Given the description of an element on the screen output the (x, y) to click on. 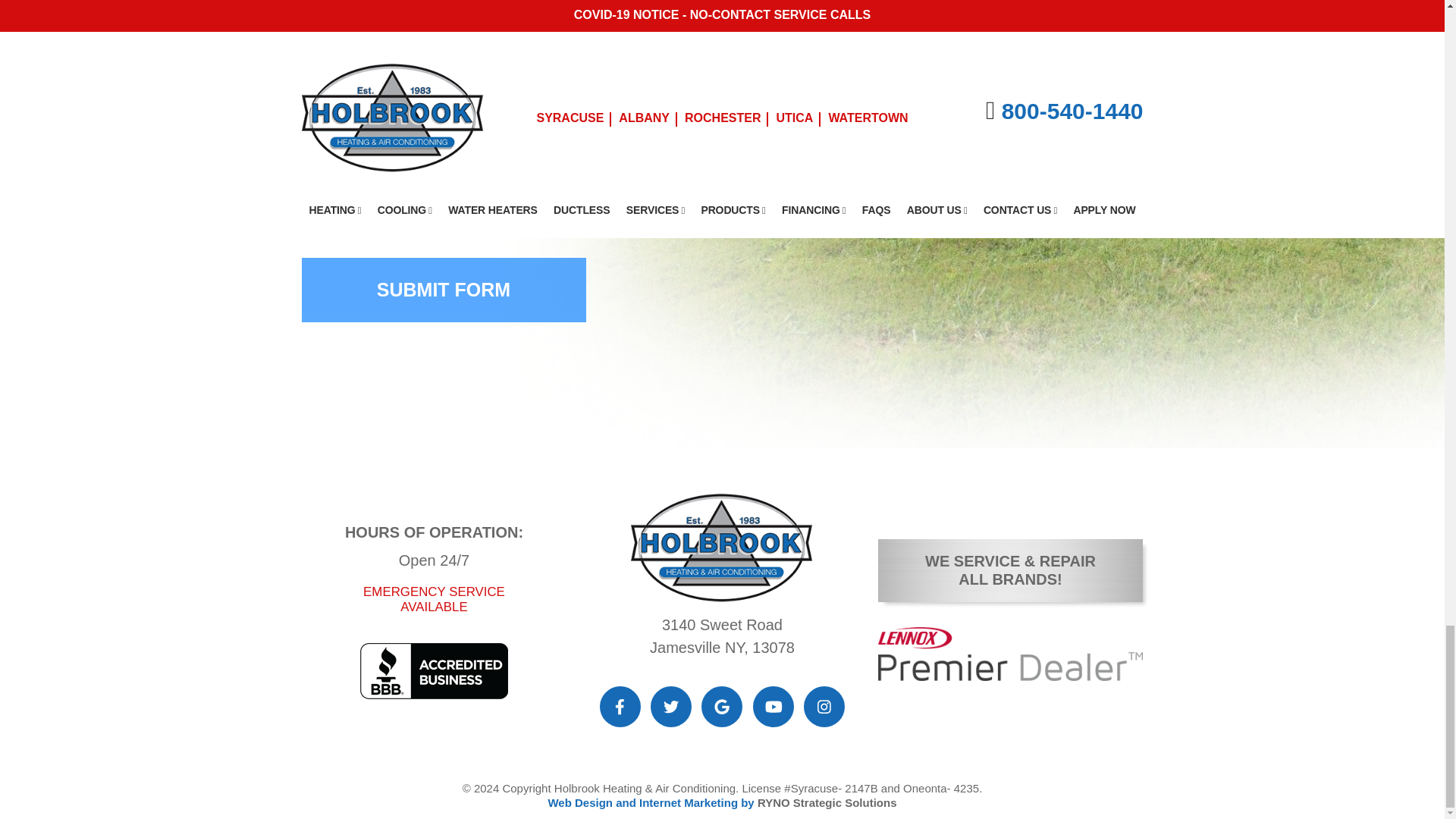
Submit Form (443, 289)
